Given the description of an element on the screen output the (x, y) to click on. 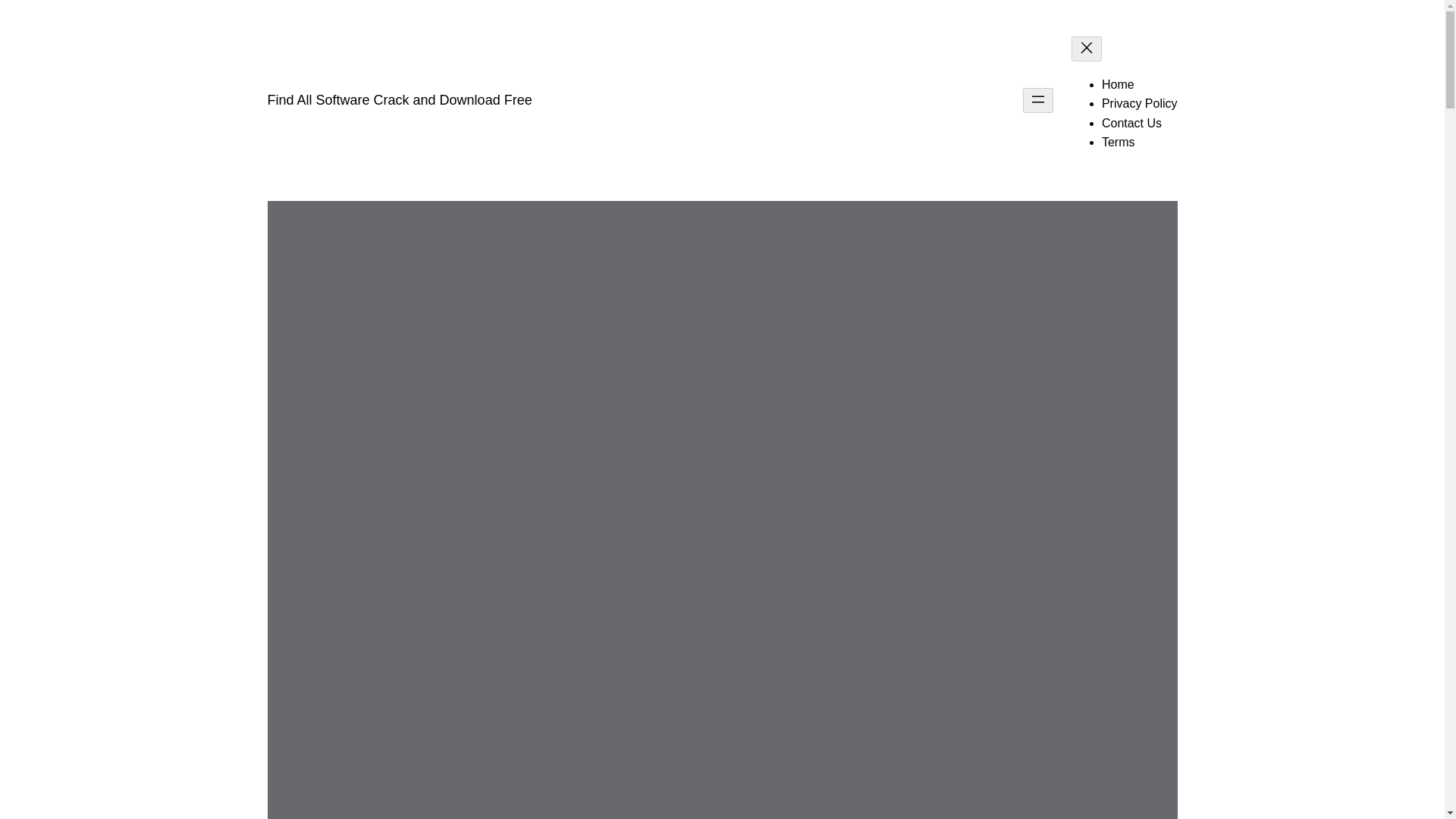
Privacy Policy (1139, 103)
Terms (1118, 141)
Home (1118, 83)
Find All Software Crack and Download Free (398, 99)
Contact Us (1131, 123)
